Given the description of an element on the screen output the (x, y) to click on. 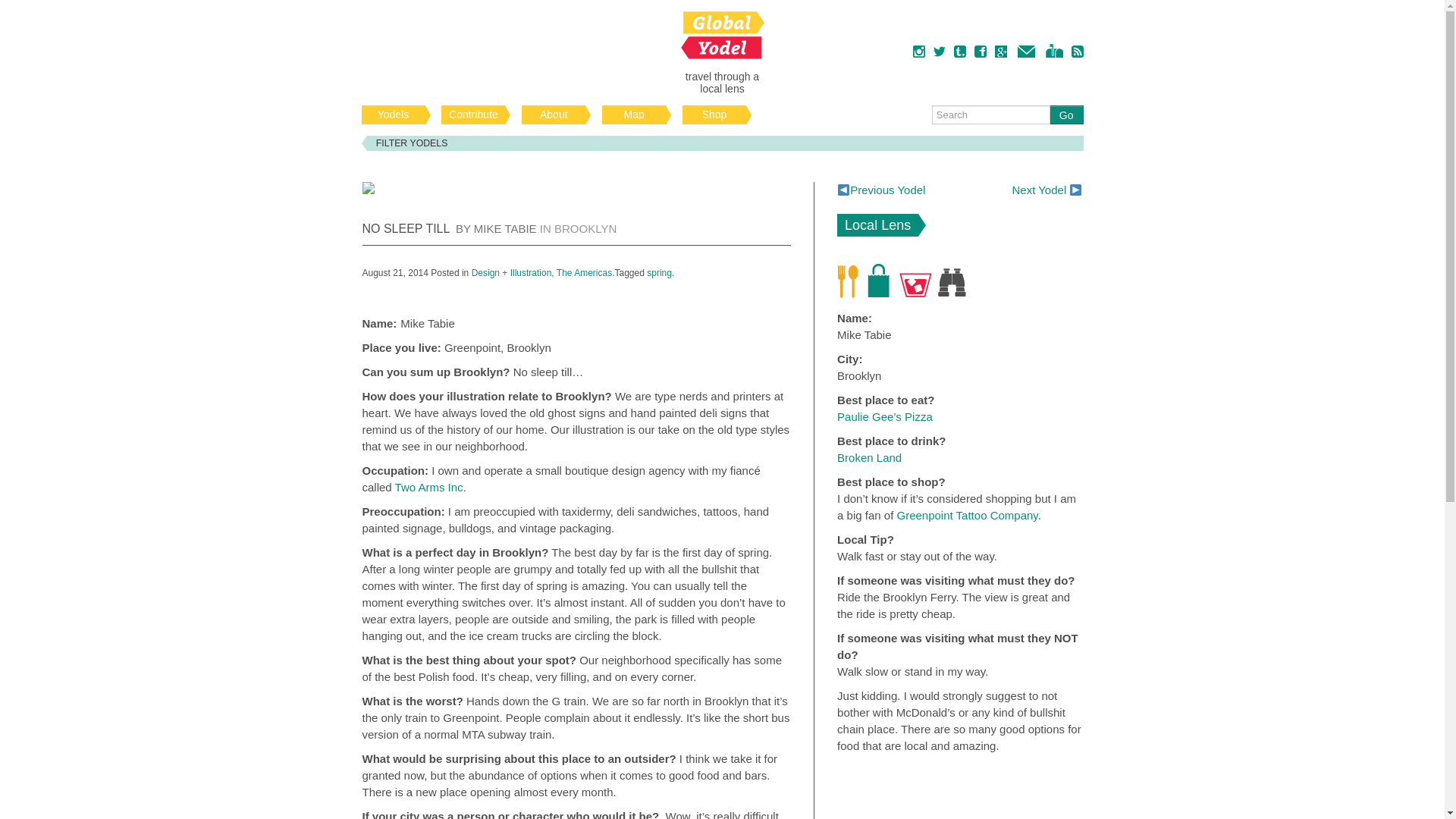
Two Arms Inc (428, 486)
The Americas (583, 272)
Go (1066, 114)
spring (658, 272)
Map (633, 114)
Previous Yodel (880, 189)
Shop (713, 114)
Greenpoint Tattoo Company (966, 514)
apply (1043, 502)
Yodels (393, 114)
About (553, 114)
Next Yodel (1046, 189)
Contribute (473, 114)
Broken Land (869, 457)
Global Yodel (721, 34)
